Given the description of an element on the screen output the (x, y) to click on. 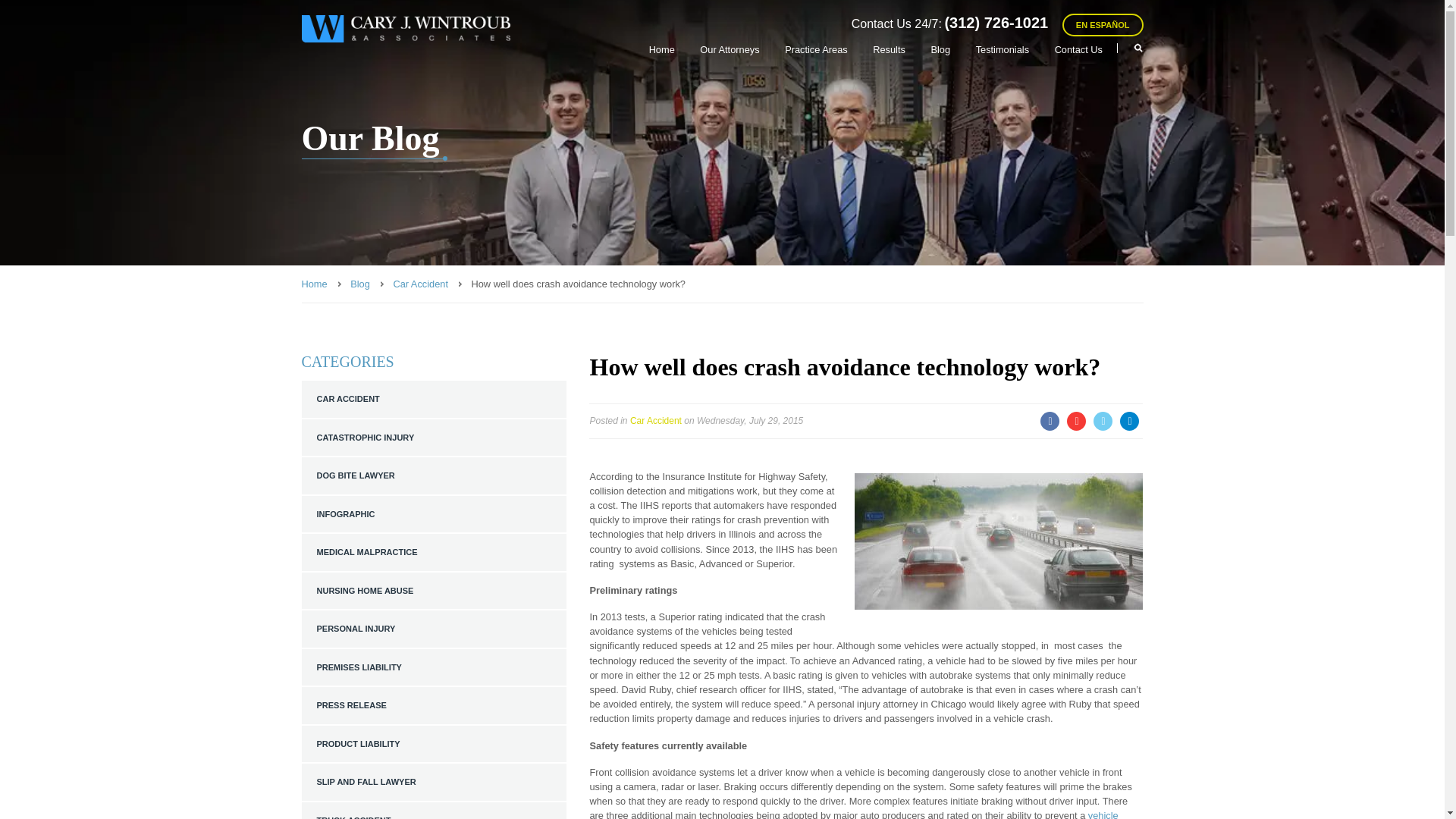
Twitter (1102, 420)
Go to Blog. (359, 283)
Go to the Car Accident category archives. (420, 283)
Car Accident (420, 283)
NURSING HOME ABUSE (434, 590)
Blog (940, 49)
Contact Us (1077, 49)
PREMISES LIABILITY (434, 667)
MEDICAL MALPRACTICE (434, 552)
Blog (359, 283)
